Given the description of an element on the screen output the (x, y) to click on. 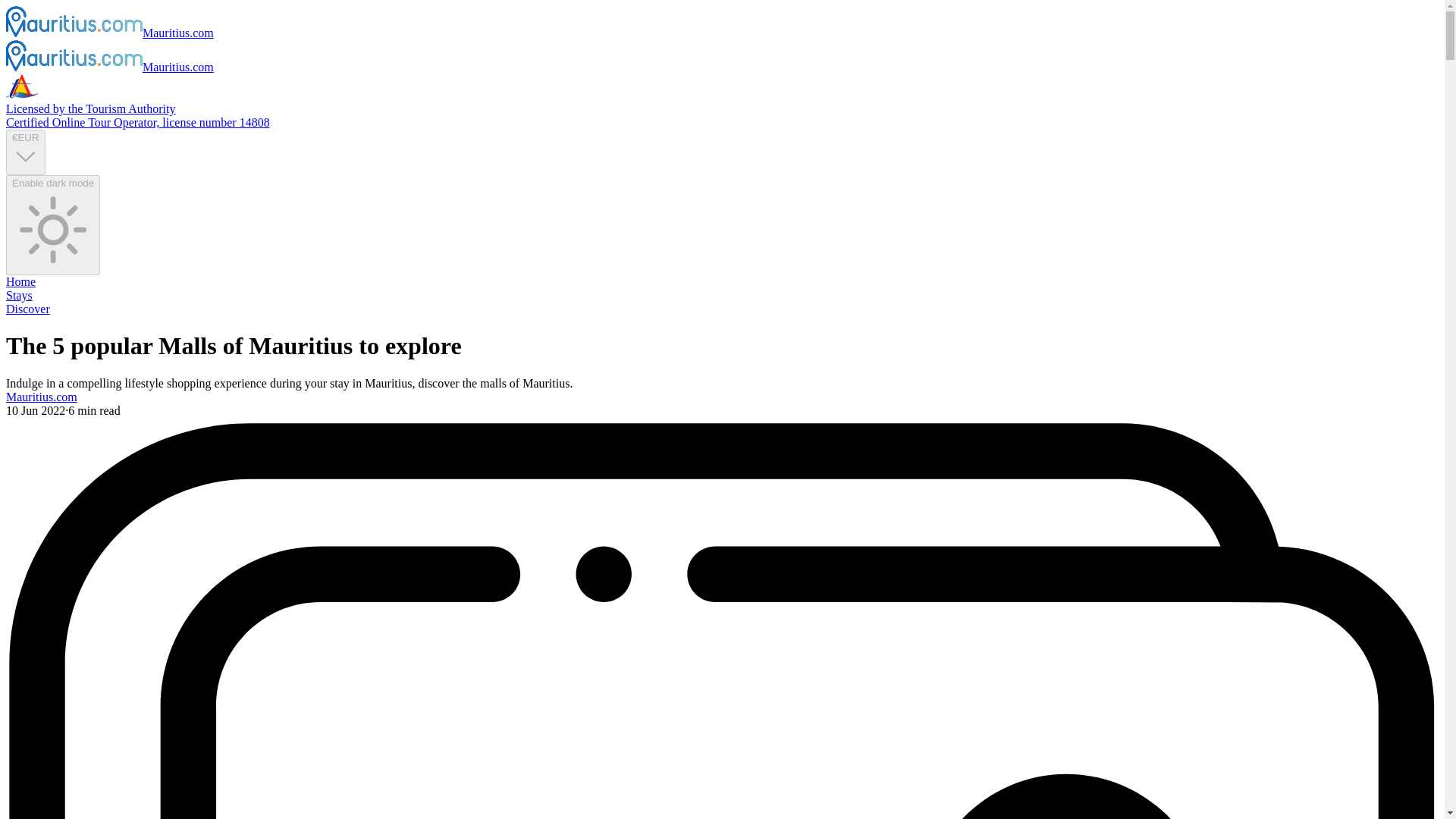
Mauritius.com (109, 66)
Mauritius.com (41, 396)
Discover (27, 308)
Mauritius.com (109, 32)
Home (19, 281)
Enable dark mode (52, 225)
Stays (18, 295)
